Given the description of an element on the screen output the (x, y) to click on. 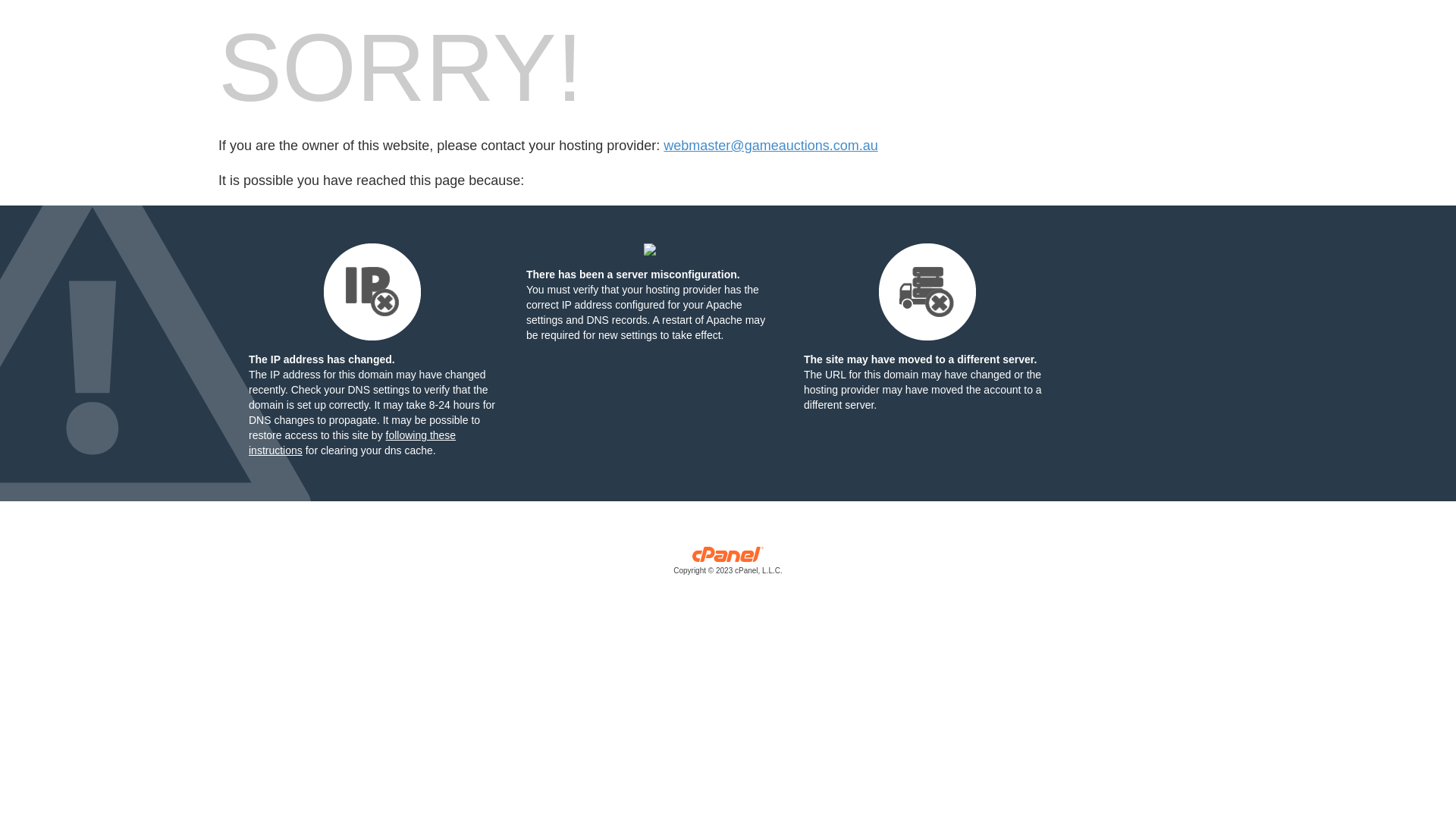
webmaster@gameauctions.com.au Element type: text (770, 145)
following these instructions Element type: text (351, 442)
